Given the description of an element on the screen output the (x, y) to click on. 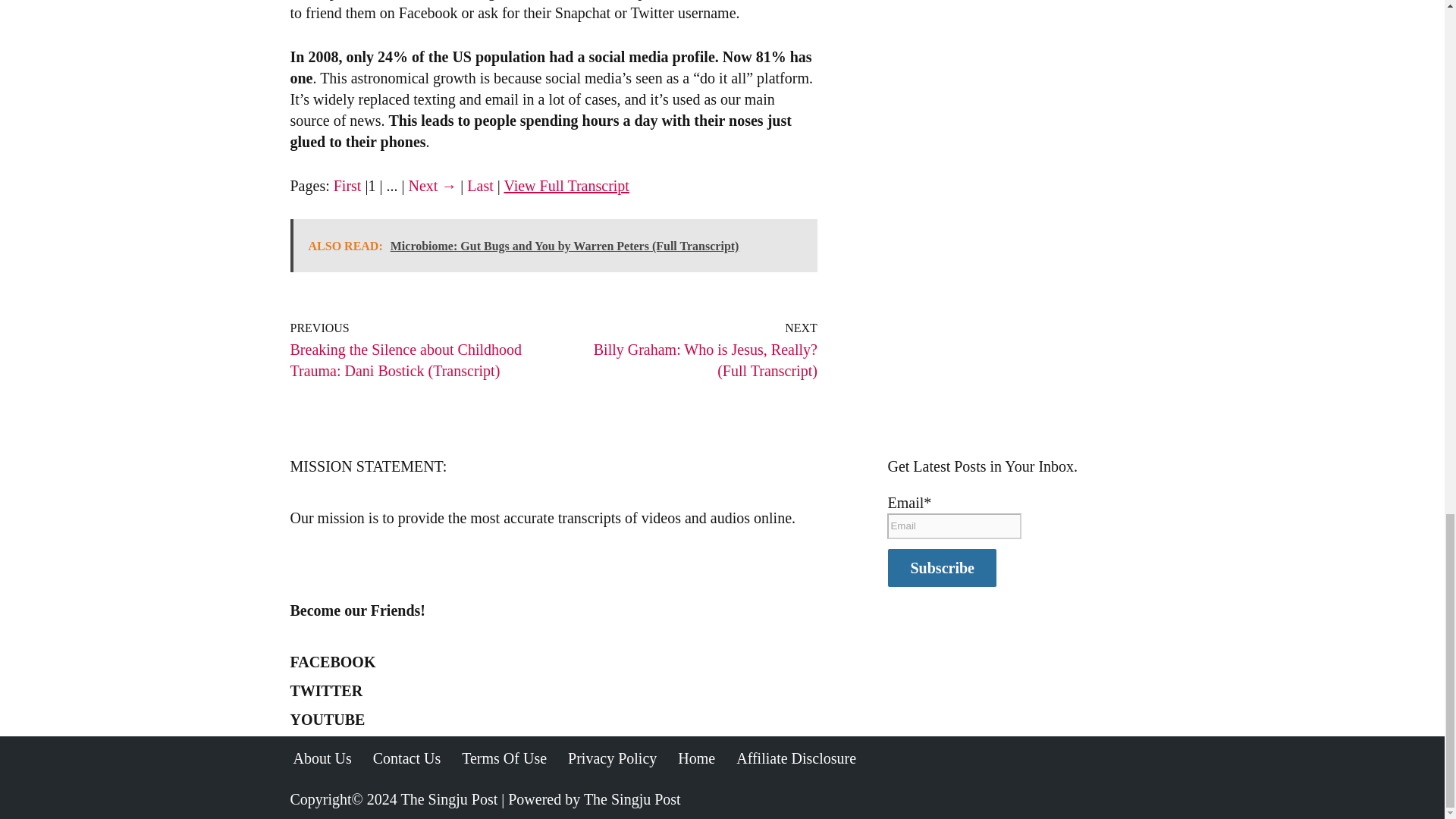
Last (480, 185)
Subscribe (940, 567)
First (347, 185)
View Full Transcript (565, 185)
